Given the description of an element on the screen output the (x, y) to click on. 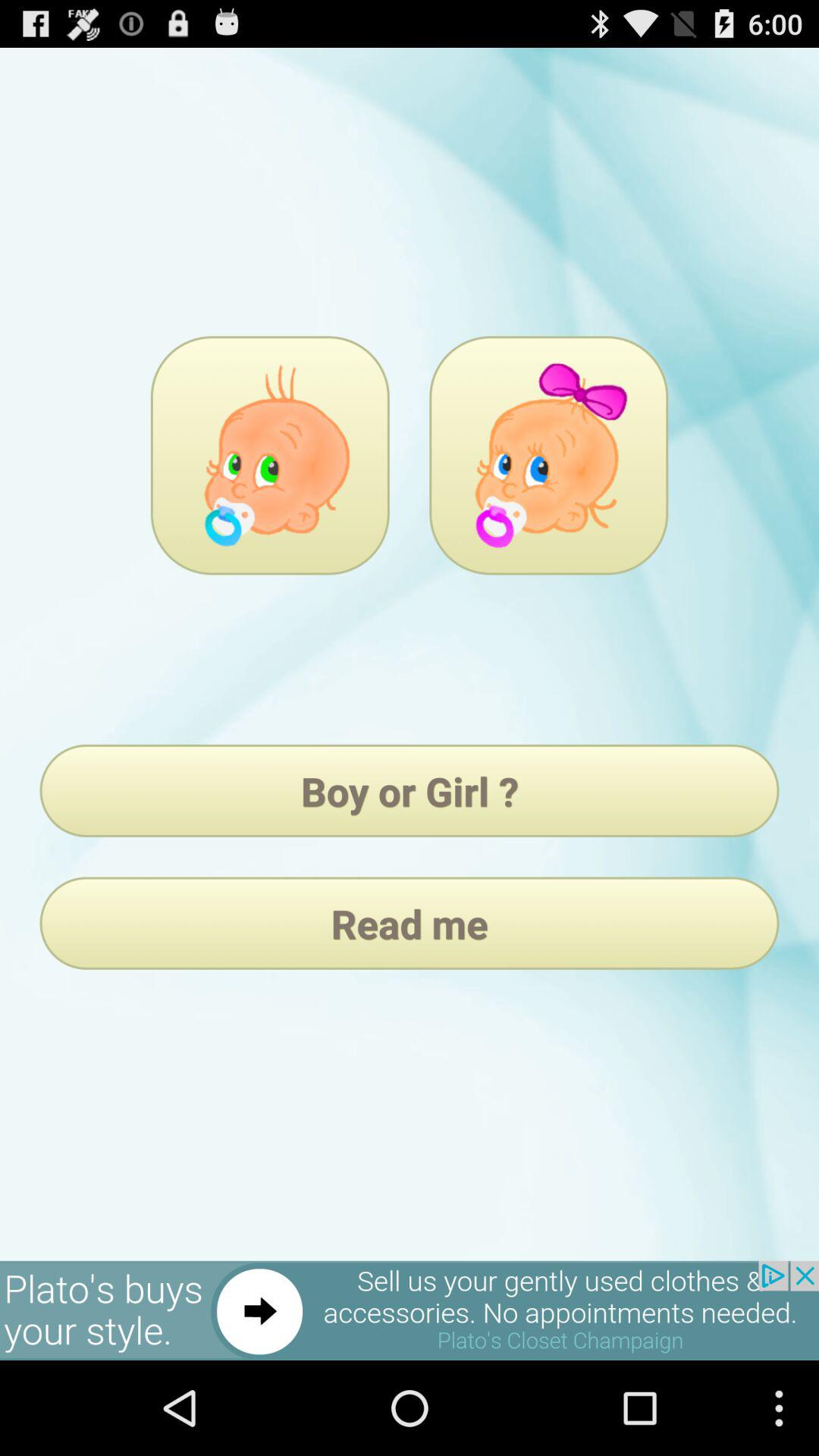
game page (548, 455)
